Given the description of an element on the screen output the (x, y) to click on. 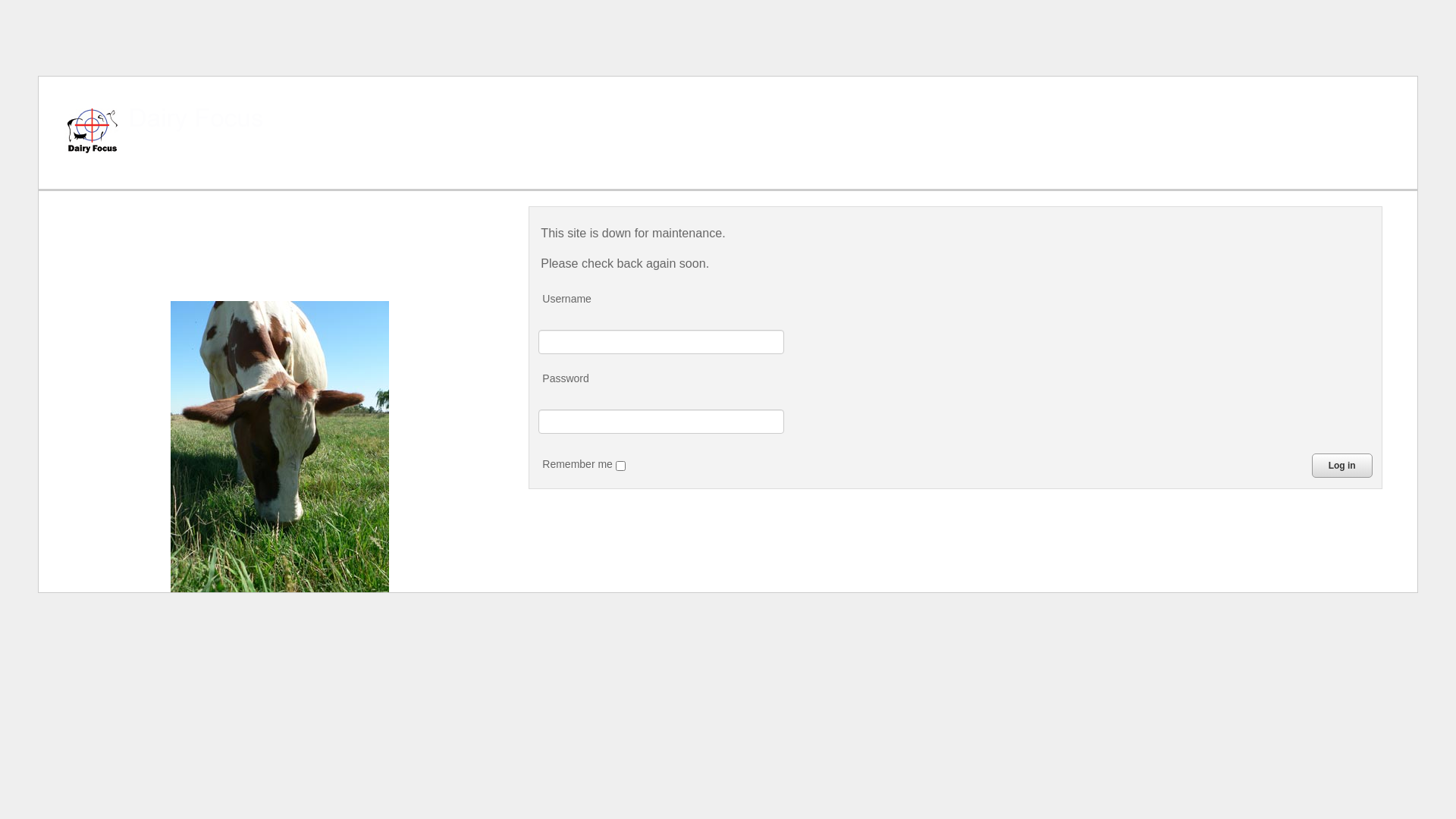
Log in Element type: text (1341, 465)
